Given the description of an element on the screen output the (x, y) to click on. 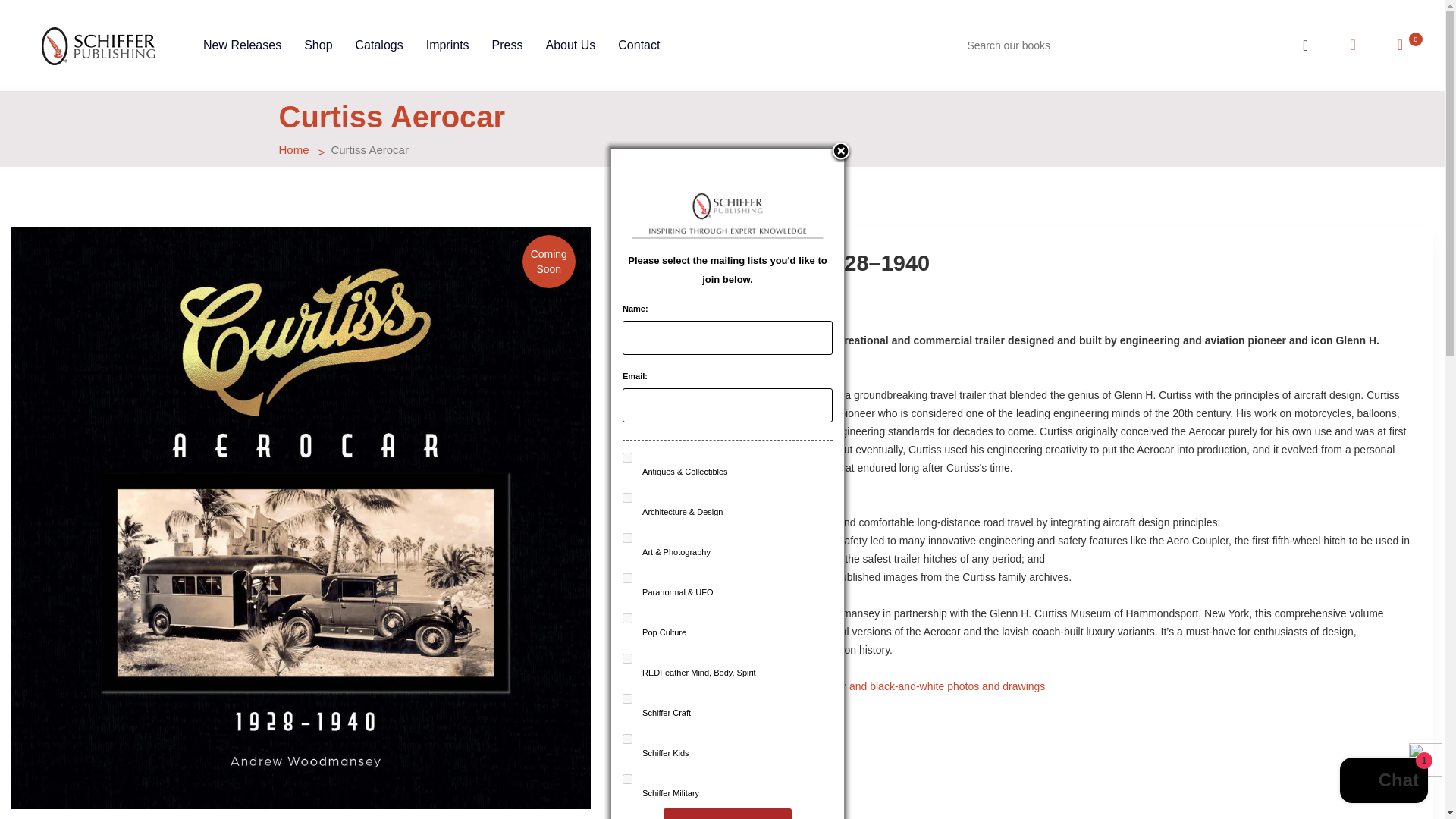
Shopify online store chat (1383, 781)
New Releases (242, 45)
Back to the home page (293, 149)
Shop (317, 45)
